Given the description of an element on the screen output the (x, y) to click on. 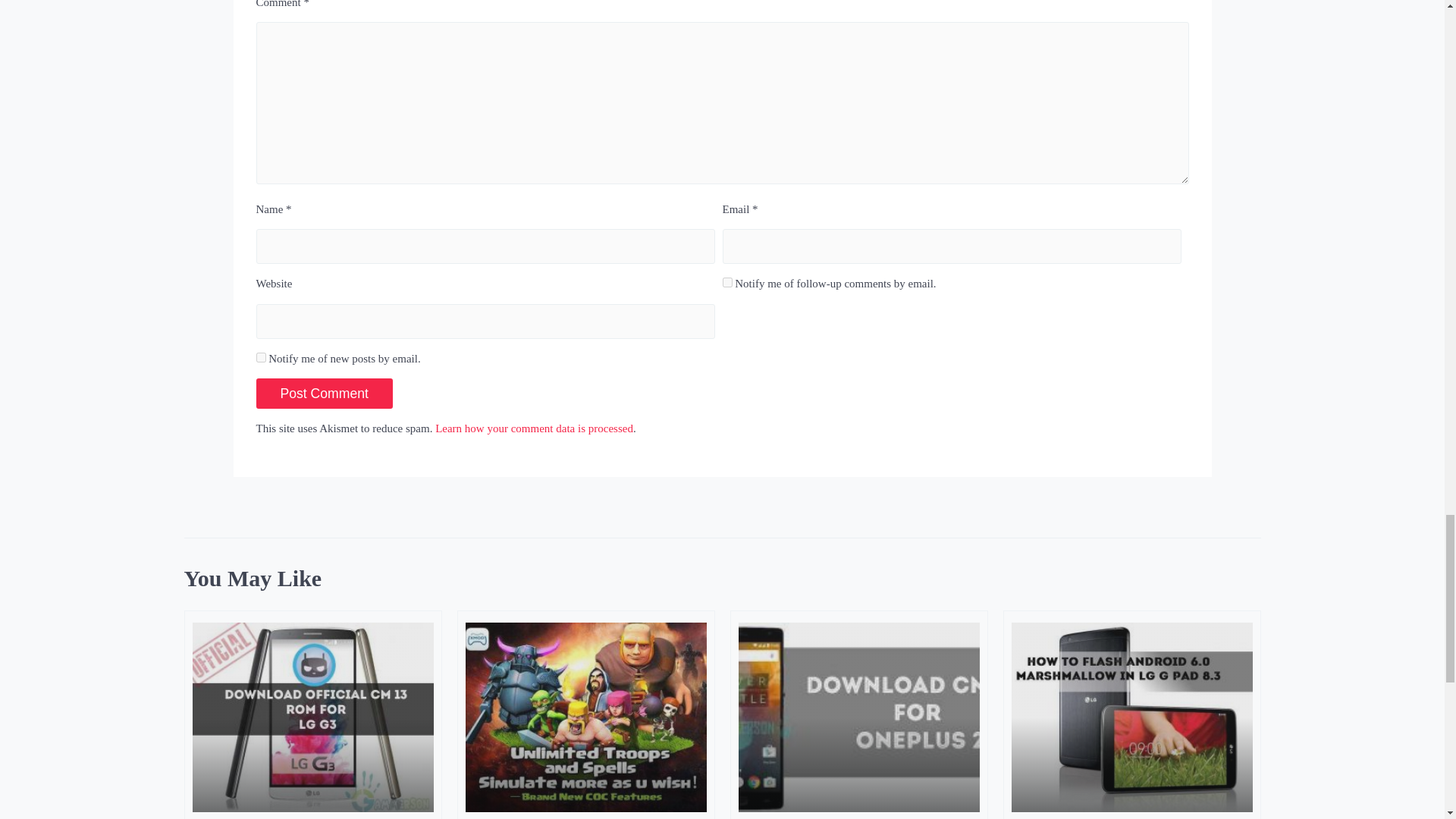
subscribe (261, 357)
subscribe (727, 282)
Post Comment (324, 393)
